Given the description of an element on the screen output the (x, y) to click on. 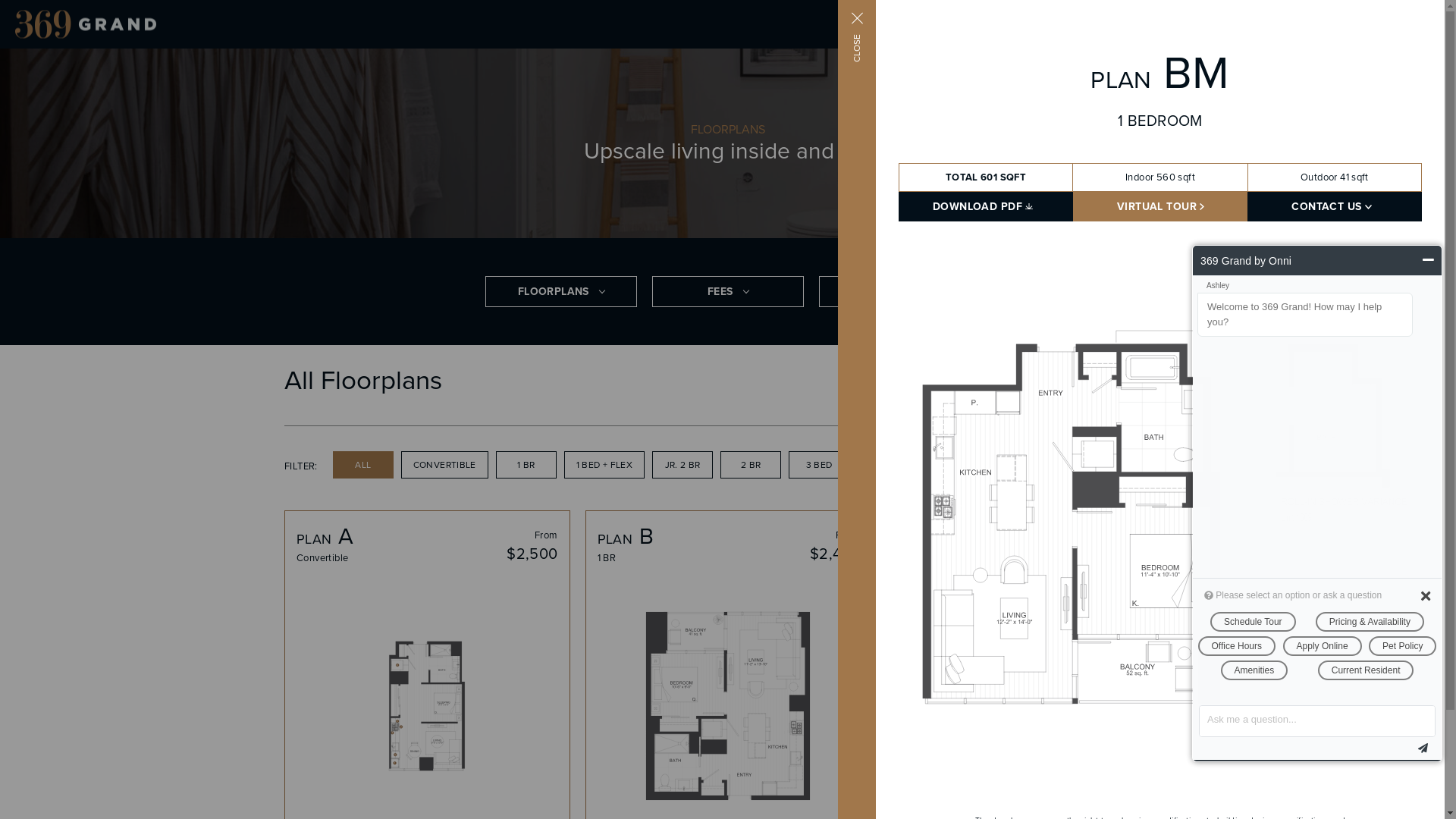
2 BR Element type: text (750, 463)
1 BR Element type: text (525, 463)
FEATURES Element type: text (894, 291)
JR. 2 BR Element type: text (682, 463)
VIRTUAL TOUR Element type: text (1160, 206)
1 BED + FLEX Element type: text (604, 463)
FLOORPLANS Element type: text (561, 291)
DOWNLOAD PDF Element type: text (986, 206)
APPLY NOW Element type: text (1364, 23)
ALL Element type: text (362, 463)
CLOSE Element type: text (874, 18)
CONVERTIBLE Element type: text (444, 463)
RCC Webchat Element type: hover (1316, 503)
CONTACT US Element type: text (1335, 206)
4 BED Element type: text (886, 463)
live webchat Element type: hover (1419, 788)
PENTHOUSE COLLECTION Element type: text (994, 463)
REQUEST A TOUR Element type: text (1268, 24)
FEES Element type: text (727, 291)
3 BED Element type: text (818, 463)
